Given the description of an element on the screen output the (x, y) to click on. 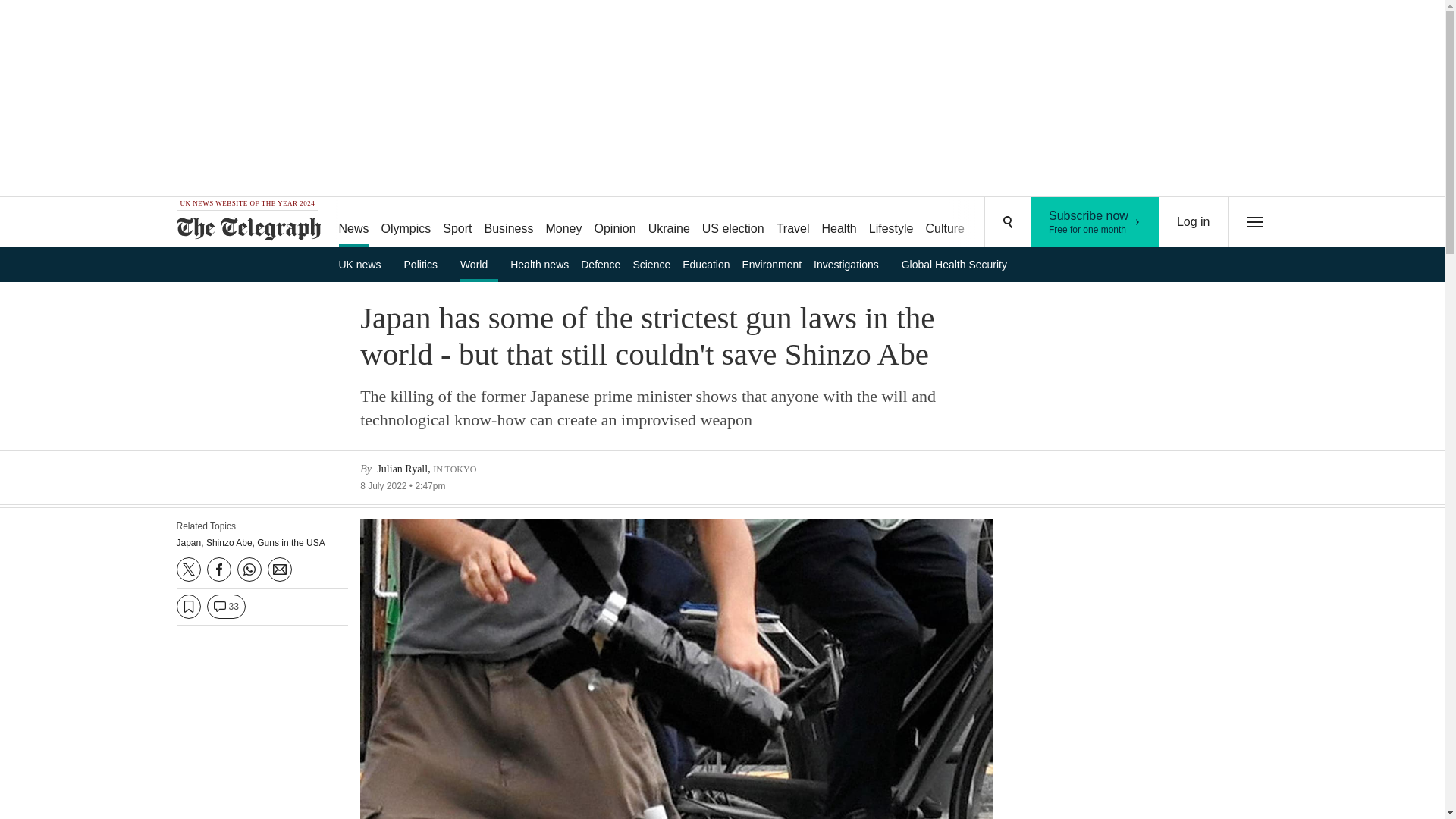
UK news (364, 264)
Puzzles (1094, 222)
Travel (998, 223)
Politics (792, 223)
Money (425, 264)
Lifestyle (563, 223)
Log in (891, 223)
Olympics (1193, 222)
Podcasts (406, 223)
Ukraine (1056, 223)
Business (668, 223)
World (509, 223)
Health (478, 264)
Opinion (838, 223)
